Given the description of an element on the screen output the (x, y) to click on. 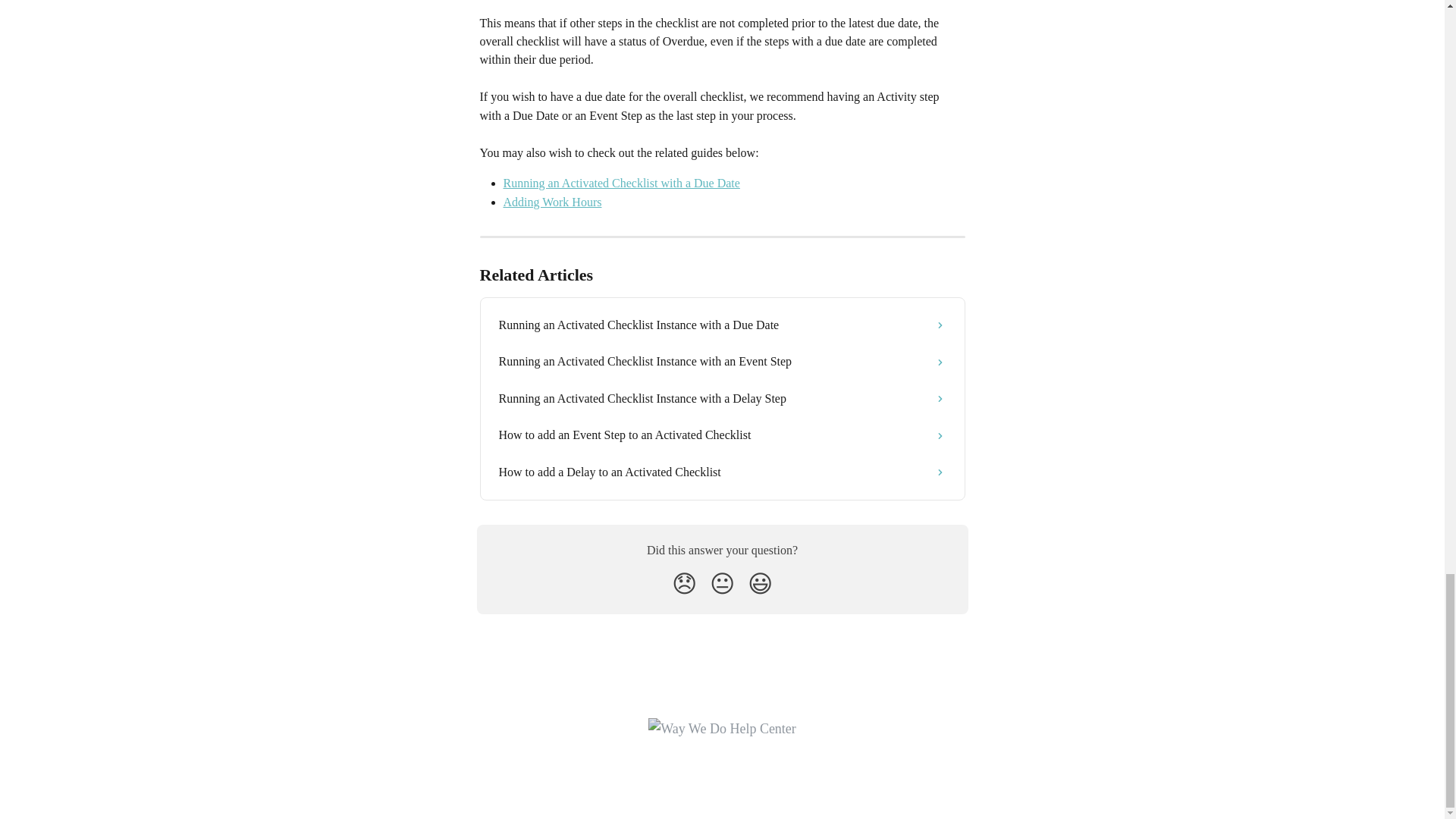
Neutral (722, 583)
Running an Activated Checklist Instance with a Due Date (722, 325)
Running an Activated Checklist with a Due Date (621, 182)
Running an Activated Checklist Instance with an Event Step (722, 361)
Adding Work Hours (552, 201)
Smiley (760, 583)
How to add an Event Step to an Activated Checklist (722, 434)
How to add a Delay to an Activated Checklist (722, 472)
Running an Activated Checklist Instance with a Delay Step (722, 398)
Disappointed (684, 583)
